Given the description of an element on the screen output the (x, y) to click on. 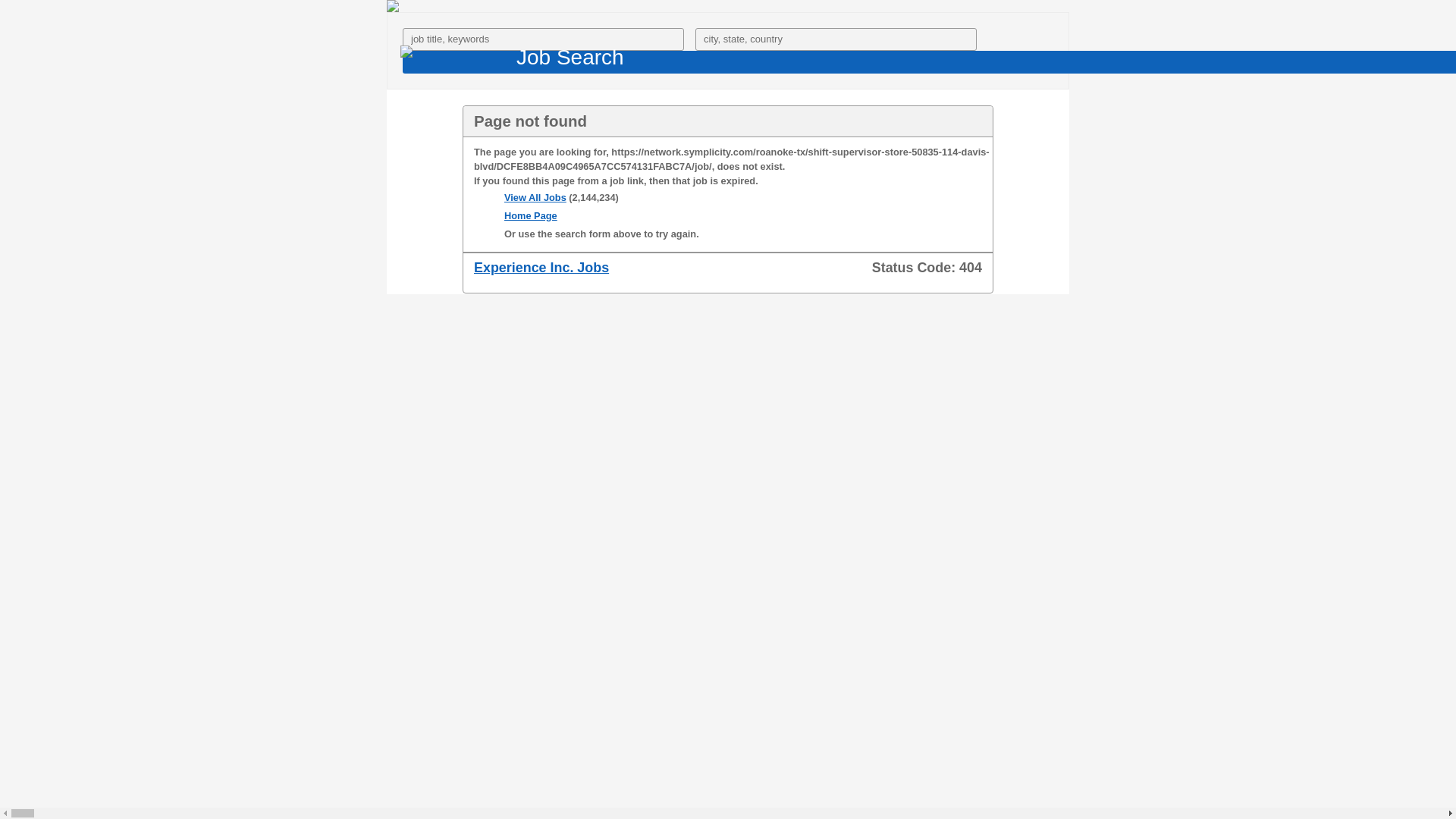
Home Page (530, 215)
View All Jobs (534, 197)
Experience Inc. Jobs (541, 266)
Search Phrase (543, 38)
Search Location (835, 38)
